Given the description of an element on the screen output the (x, y) to click on. 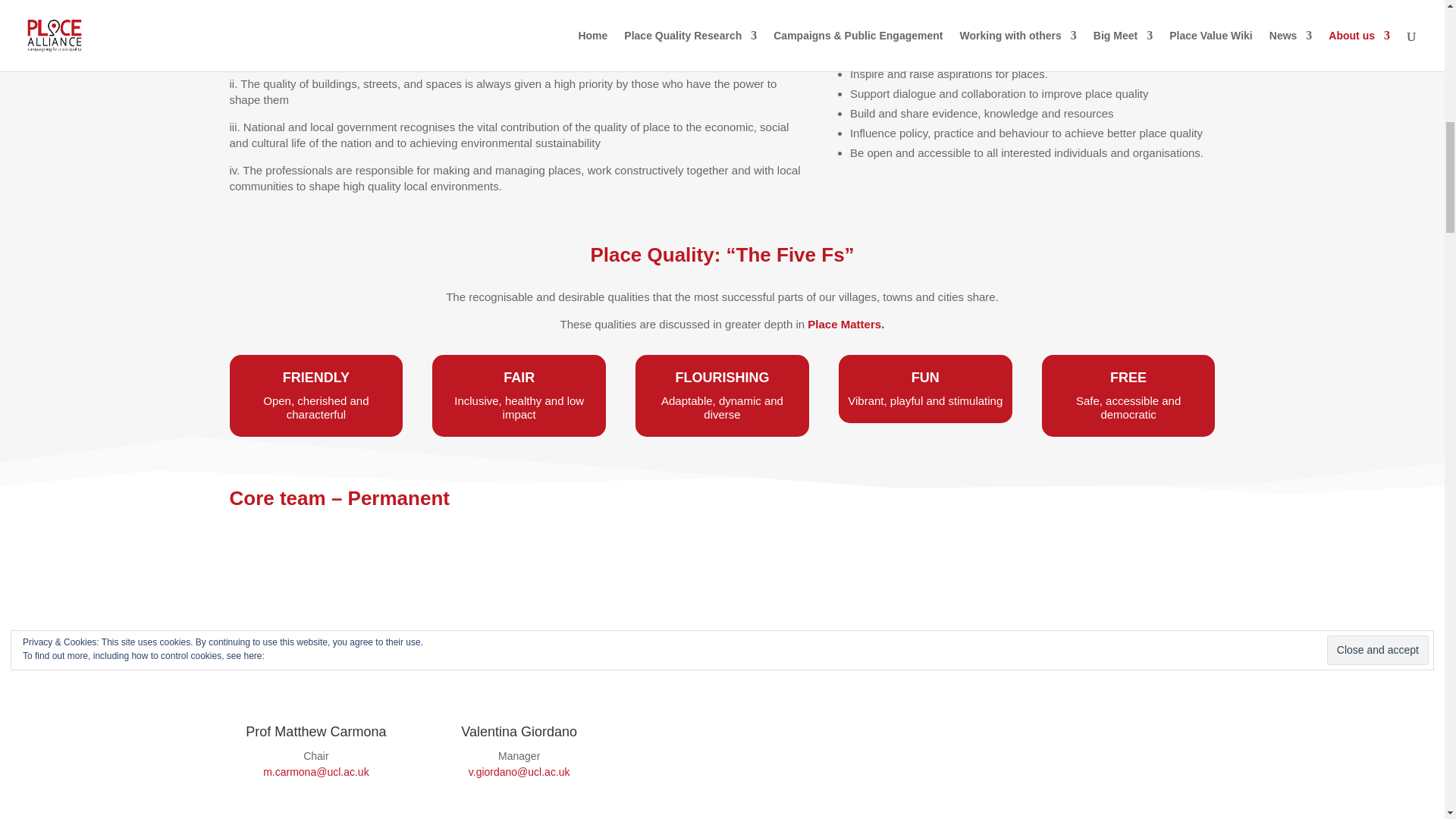
Place Matters (844, 323)
